Given the description of an element on the screen output the (x, y) to click on. 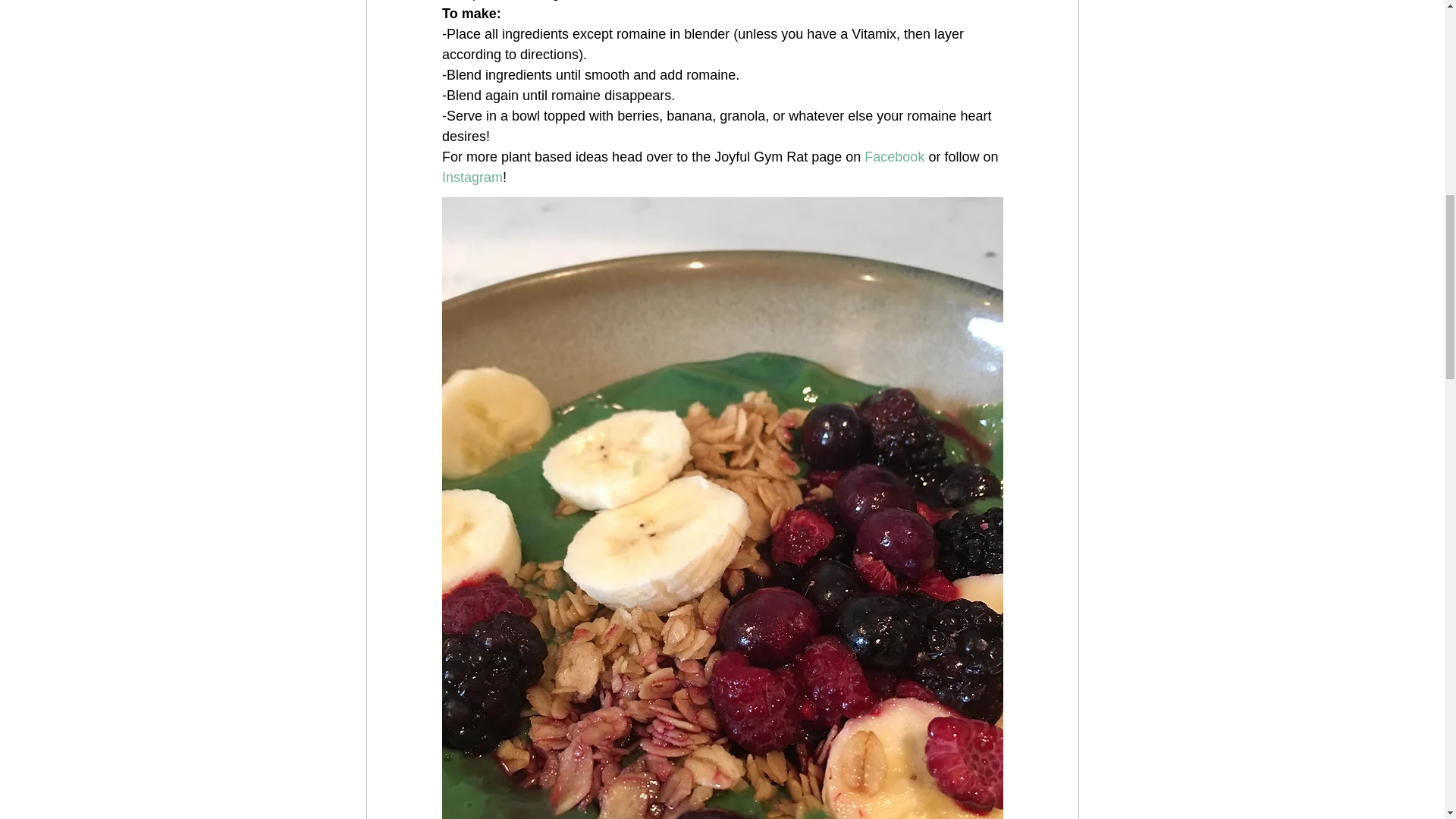
Instagram (471, 177)
Facebook  (896, 156)
